Given the description of an element on the screen output the (x, y) to click on. 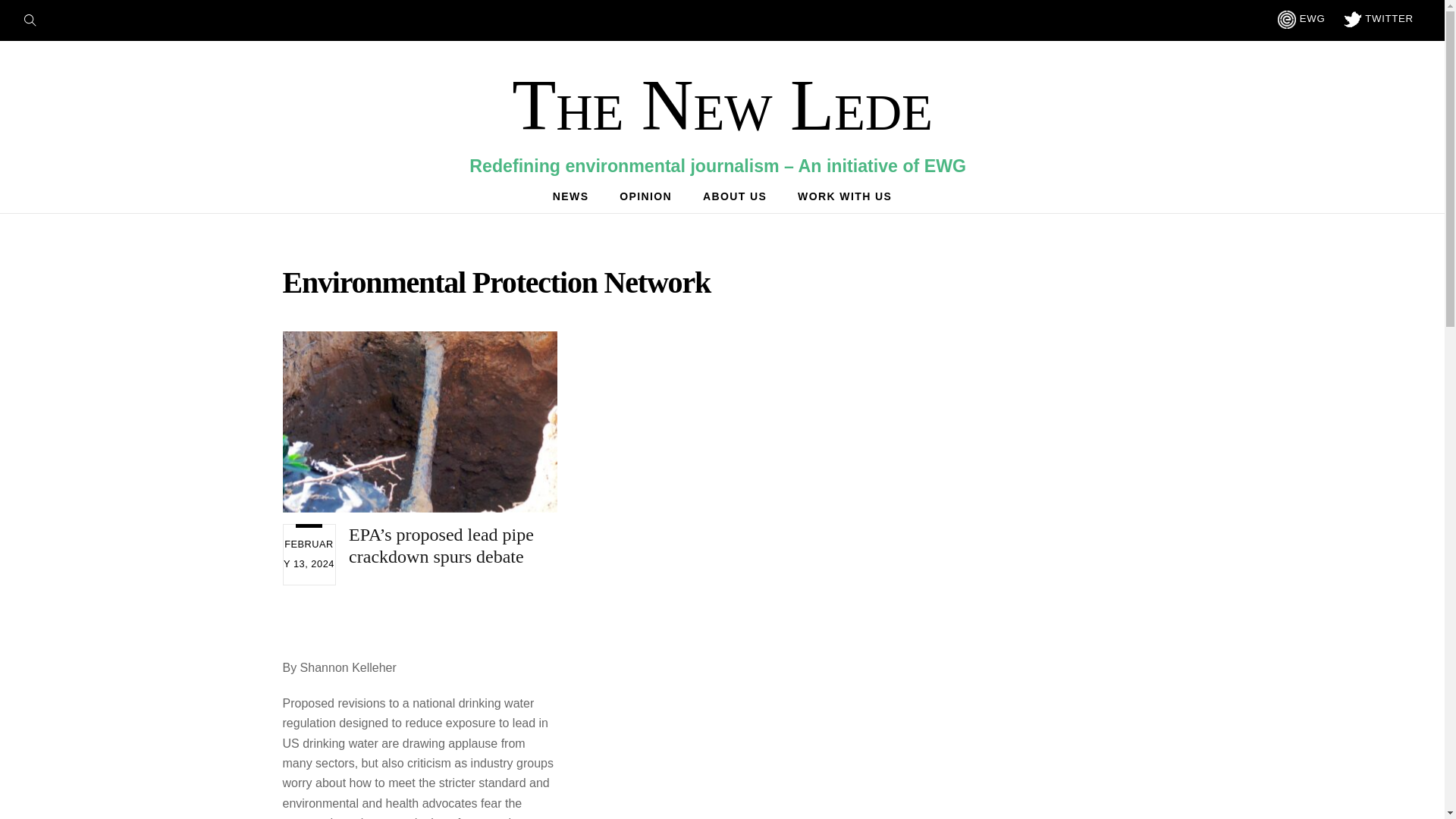
ABOUT US (735, 196)
OPINION (645, 196)
NEWS (570, 196)
The New Lede (722, 105)
WORK WITH US (845, 196)
The New Lede (722, 105)
TWITTER (1378, 18)
Search (35, 18)
WASA big idea? (419, 421)
EWG (1301, 18)
